Given the description of an element on the screen output the (x, y) to click on. 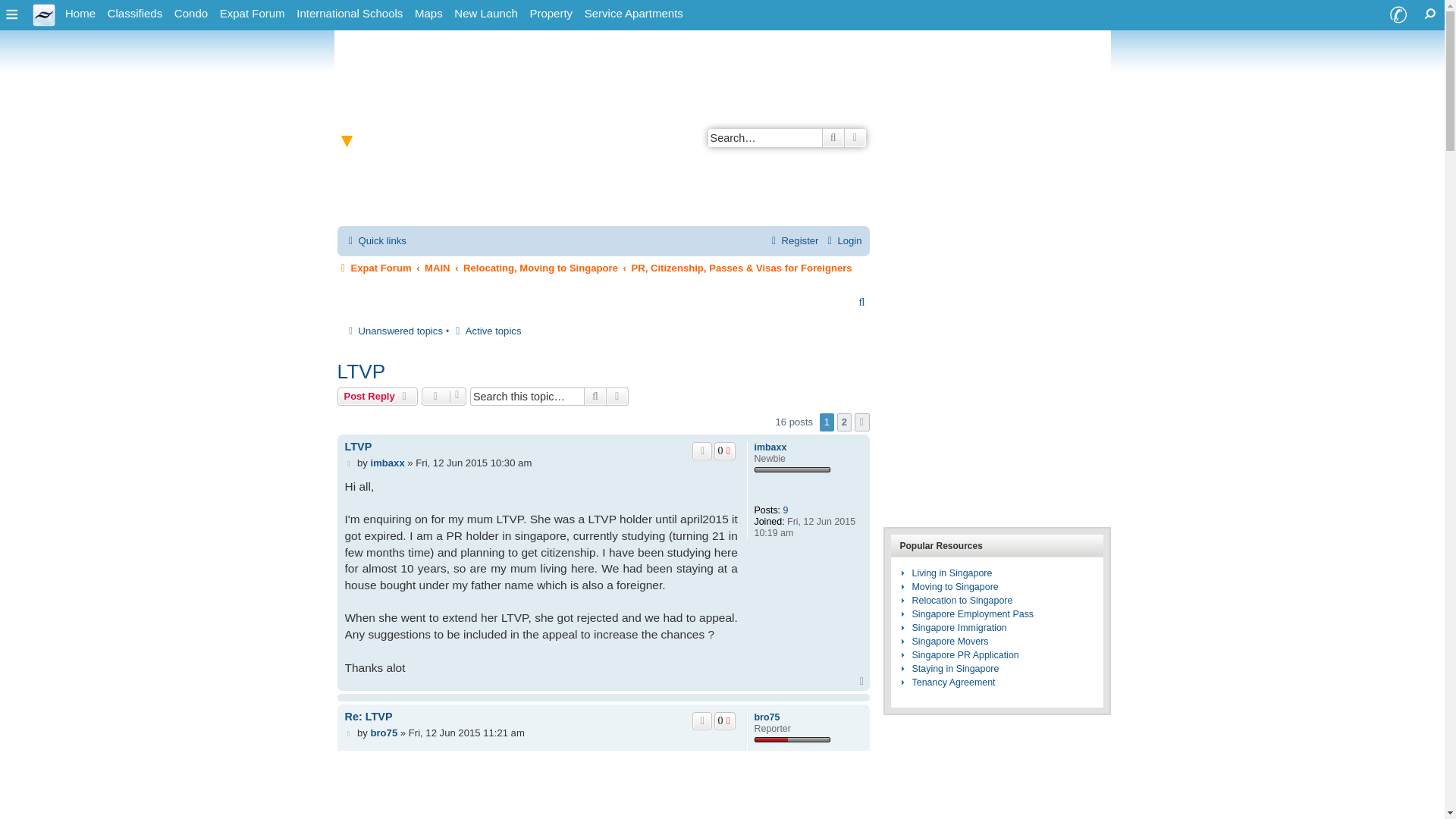
Singapore Property (550, 13)
Condo (191, 13)
Singapore Service Apartments (633, 13)
Singapore Expats (80, 13)
Maps (428, 13)
Contact Us (1397, 15)
Singapore Expats (44, 13)
New Property Launch (485, 13)
Expat Forum (252, 13)
Home (80, 13)
